Given the description of an element on the screen output the (x, y) to click on. 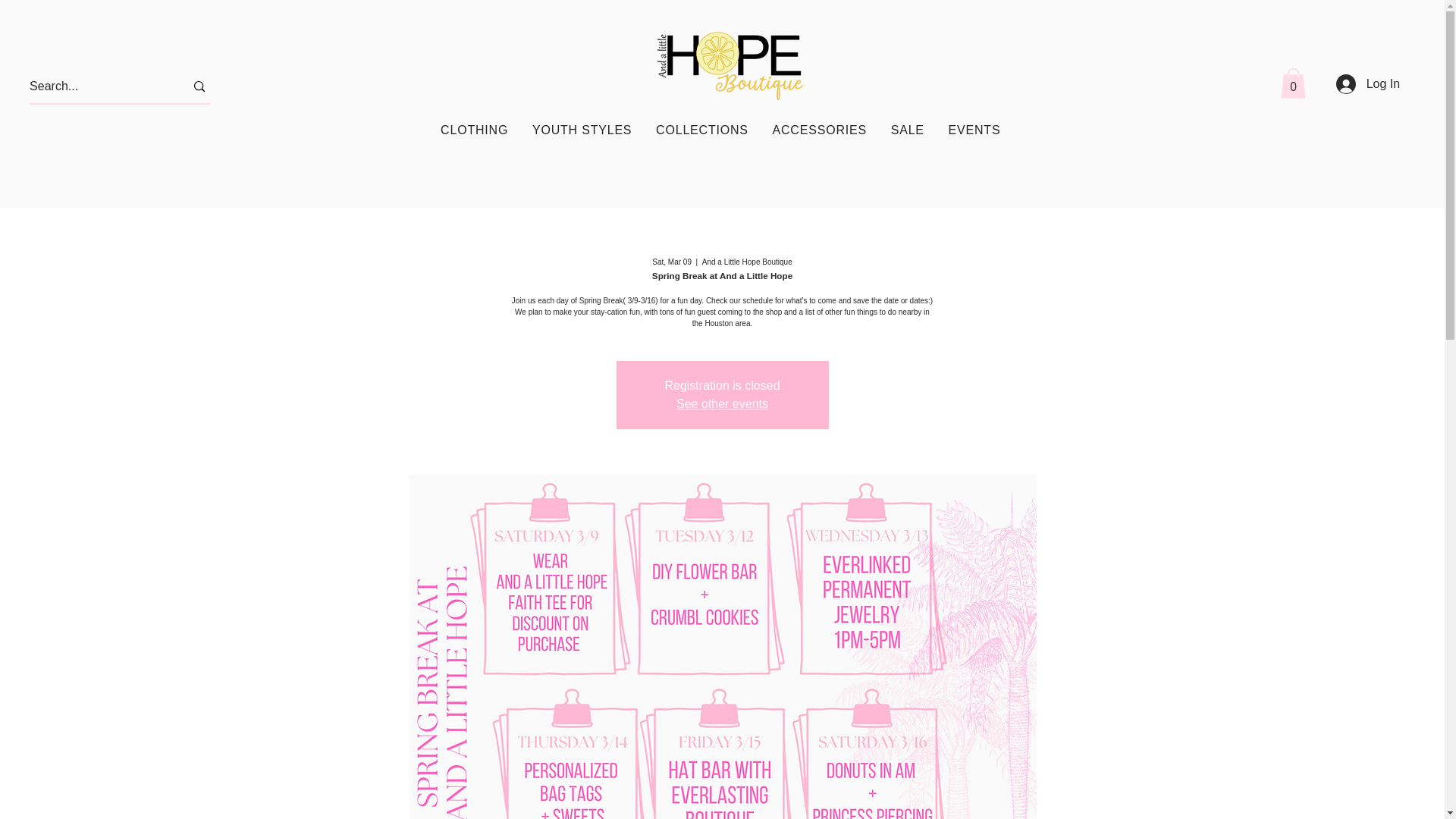
See other events (722, 403)
EVENTS (974, 130)
Log In (1357, 83)
SALE (907, 130)
